Given the description of an element on the screen output the (x, y) to click on. 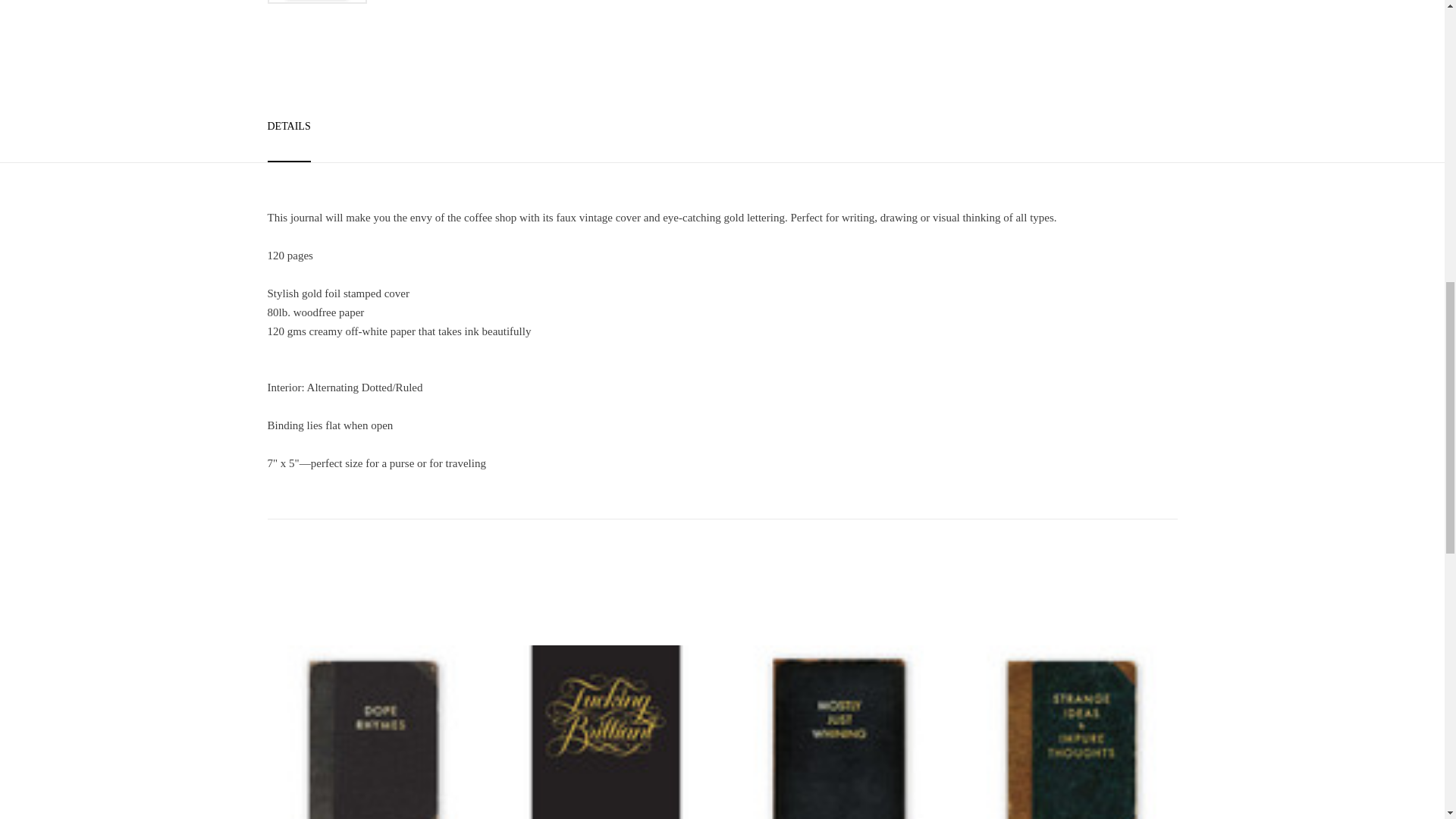
Dope Rhymes Journal (372, 732)
Fucking Brilliant Journal   (605, 732)
Mostly Just Whining Journal (838, 732)
Womankind World Domination Journal (316, 2)
